Given the description of an element on the screen output the (x, y) to click on. 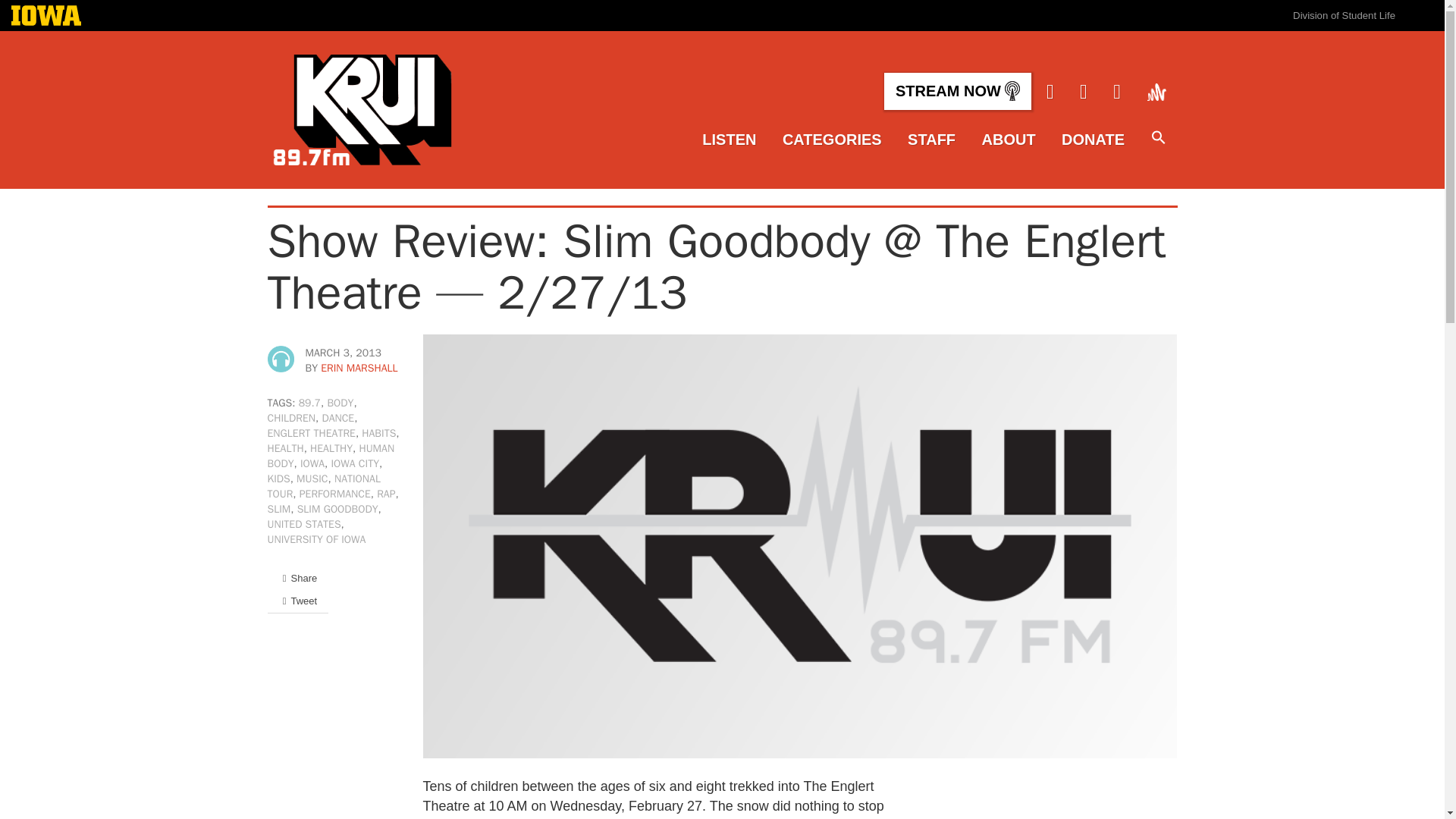
ABOUT (1008, 139)
Division of Student Life (1343, 15)
STREAM NOW (956, 90)
LISTEN (728, 139)
Share on Facebook (296, 577)
The University of Iowa (46, 16)
Share on Twitter (296, 600)
STAFF (931, 139)
CATEGORIES (832, 139)
